Given the description of an element on the screen output the (x, y) to click on. 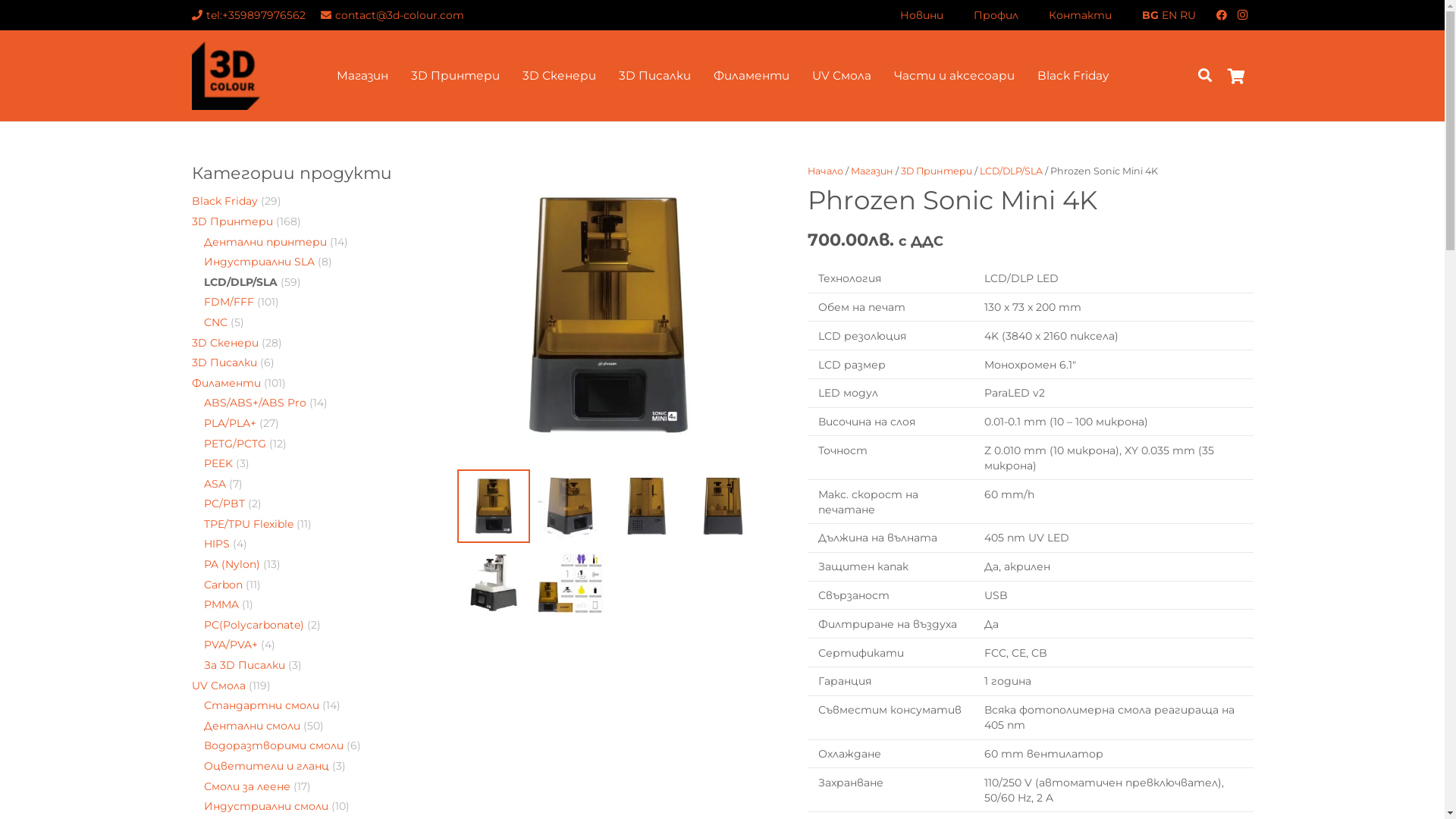
Instagram Element type: hover (1241, 14)
PMMA Element type: text (220, 604)
RU Element type: text (1187, 14)
PEEK Element type: text (217, 463)
Black Friday Element type: text (1072, 75)
BG Element type: text (1150, 14)
contact@3d-colour.com Element type: text (392, 14)
PA (Nylon) Element type: text (231, 564)
LCD/DLP/SLA Element type: text (1010, 170)
PETG/PCTG Element type: text (234, 443)
TPE/TPU Flexible Element type: text (248, 523)
FDM/FFF Element type: text (228, 301)
PC(Polycarbonate) Element type: text (253, 624)
CNC Element type: text (215, 322)
Phrozen Sonic Mini 4K-1 Element type: hover (607, 314)
Facebook Element type: hover (1220, 14)
Carbon Element type: text (222, 584)
PC/PBT Element type: text (223, 503)
ABS/ABS+/ABS Pro Element type: text (254, 402)
ASA Element type: text (214, 483)
HIPS Element type: text (216, 543)
PVA/PVA+ Element type: text (230, 644)
EN Element type: text (1168, 14)
PLA/PLA+ Element type: text (229, 422)
Black Friday Element type: text (224, 200)
LCD/DLP/SLA Element type: text (240, 281)
tel:+359897976562 Element type: text (248, 14)
0 Element type: text (1236, 75)
